Given the description of an element on the screen output the (x, y) to click on. 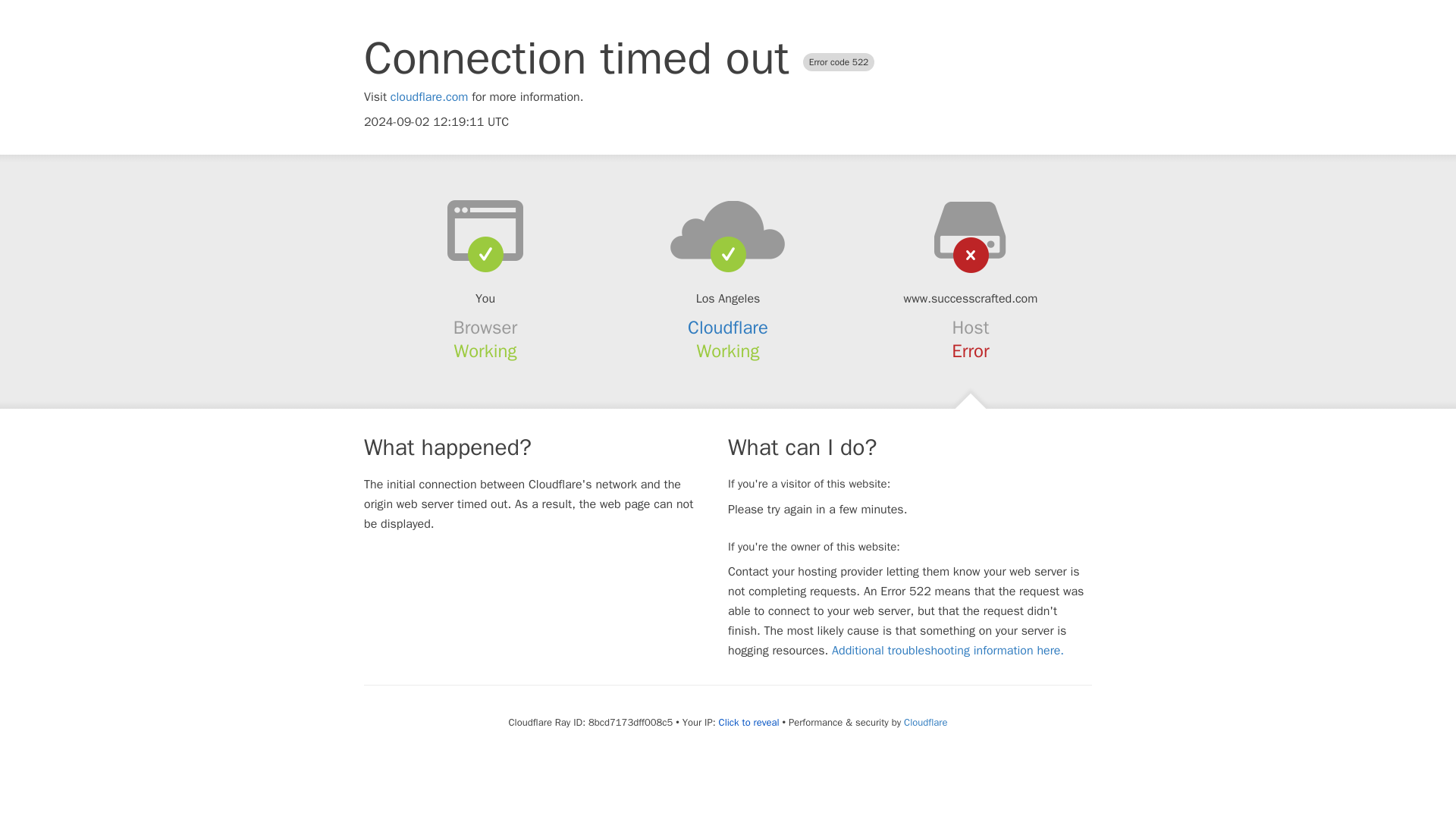
Cloudflare (727, 327)
Click to reveal (748, 722)
Cloudflare (925, 721)
cloudflare.com (429, 96)
Additional troubleshooting information here. (947, 650)
